Given the description of an element on the screen output the (x, y) to click on. 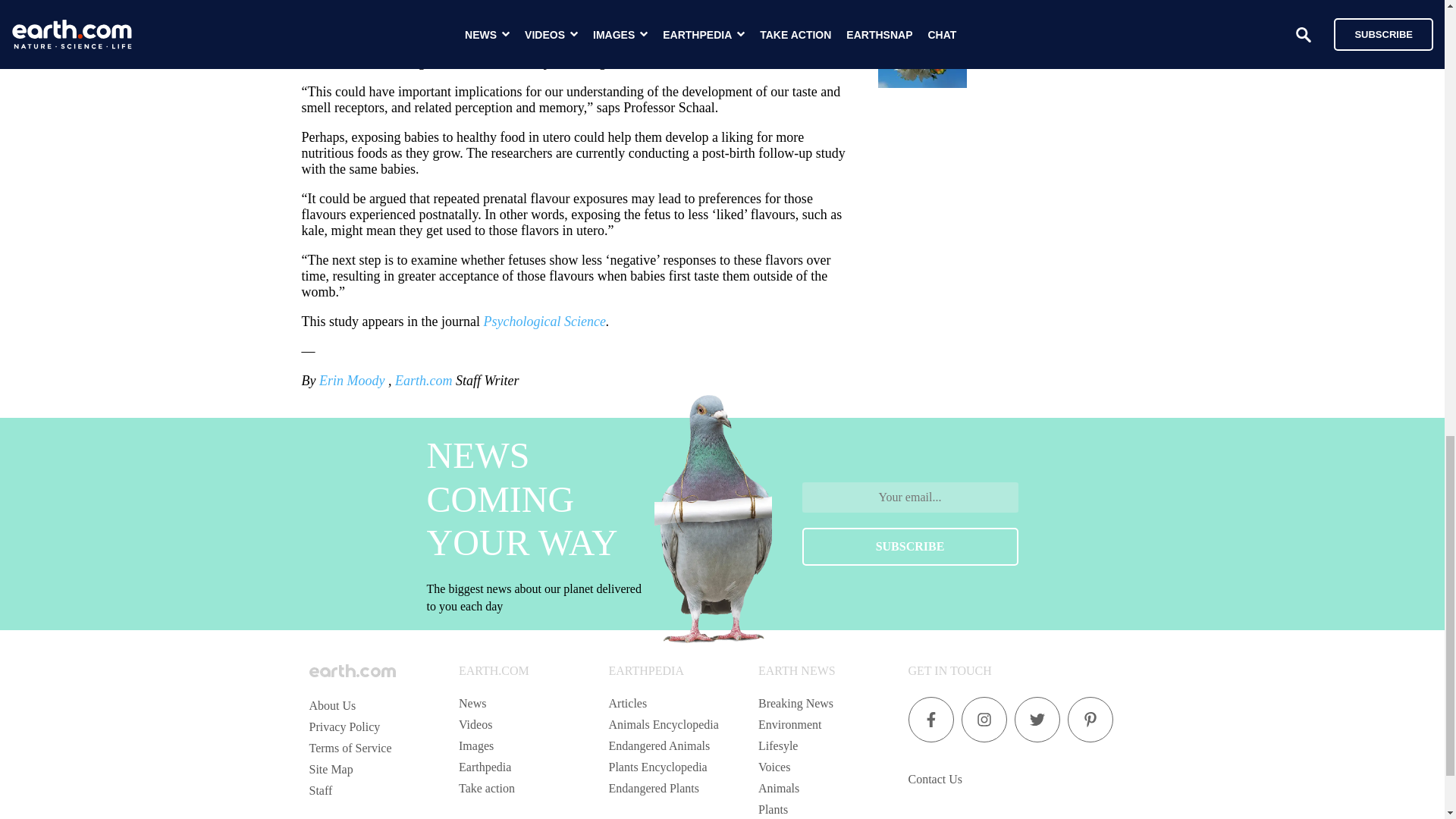
Earth.com (423, 380)
About Us (332, 705)
Erin Moody (353, 380)
How do butterfly wings acquire their breathtaking colors? (1059, 46)
Psychological Science (544, 321)
SUBSCRIBE (909, 546)
